Given the description of an element on the screen output the (x, y) to click on. 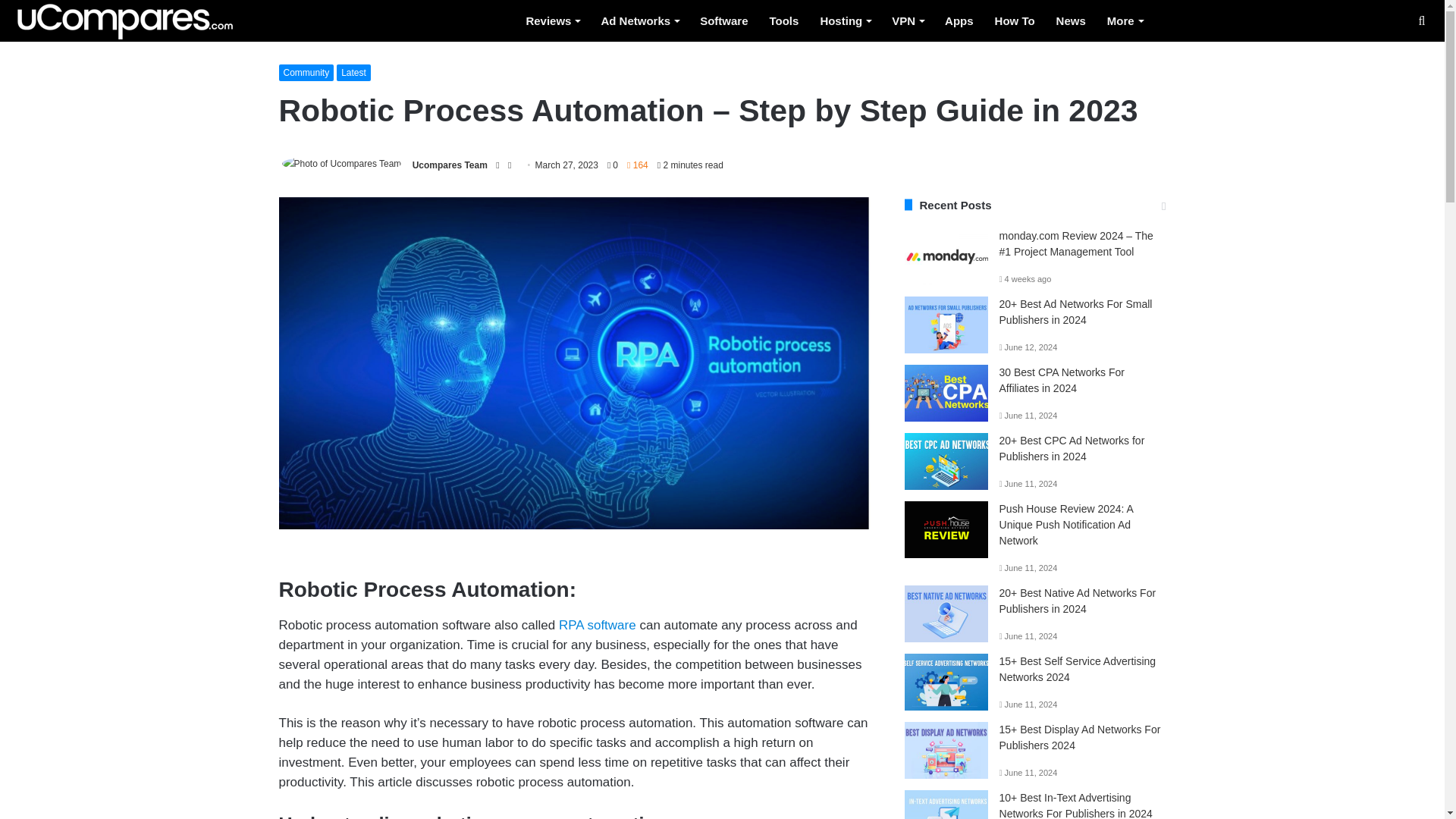
Software (723, 20)
Ucompares Team (449, 160)
Reviews (552, 20)
uCompares.com (124, 21)
Ad Networks (638, 20)
Tools (783, 20)
Hosting (844, 20)
